Given the description of an element on the screen output the (x, y) to click on. 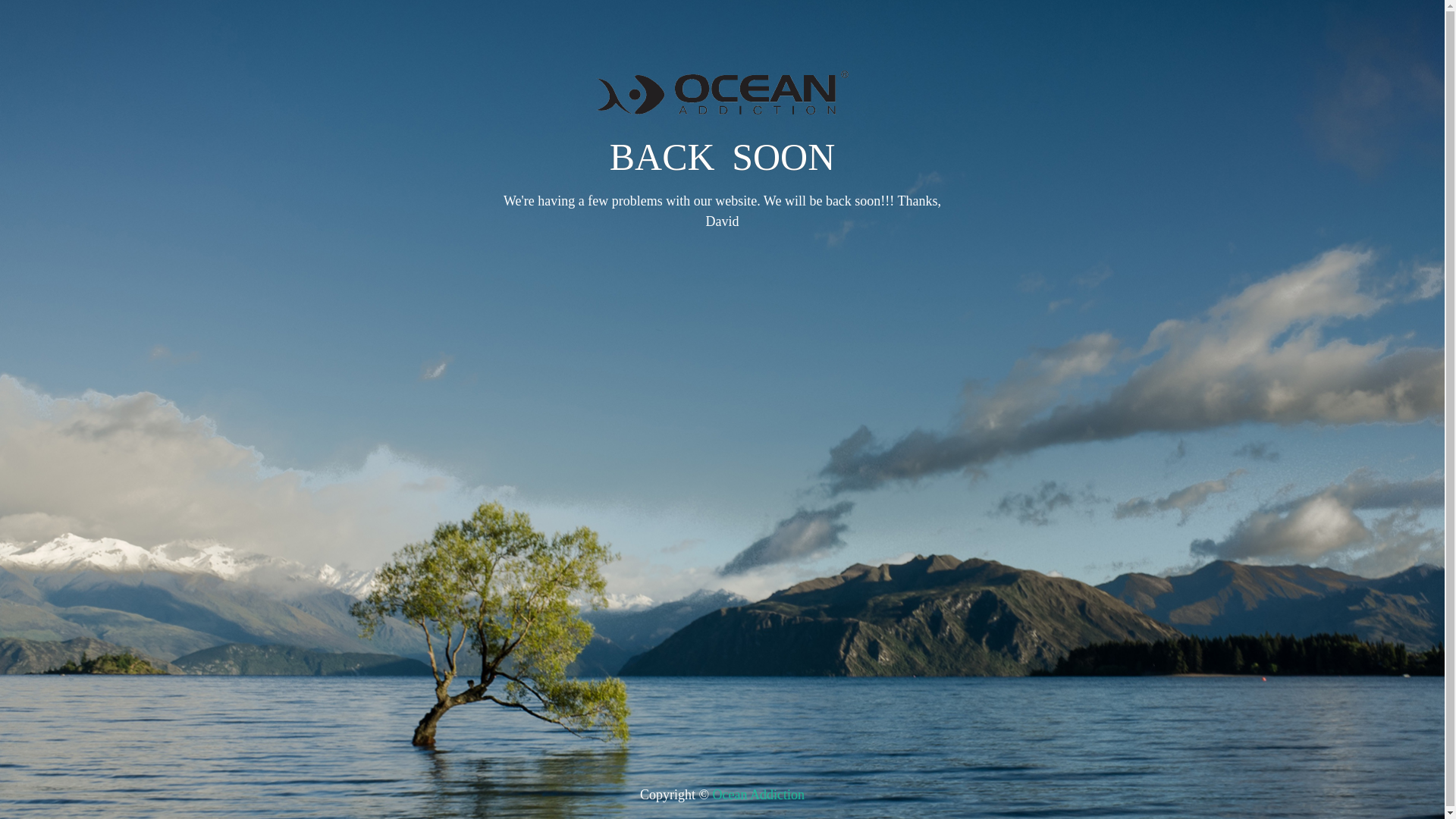
Ocean Addiction Element type: text (758, 794)
